Given the description of an element on the screen output the (x, y) to click on. 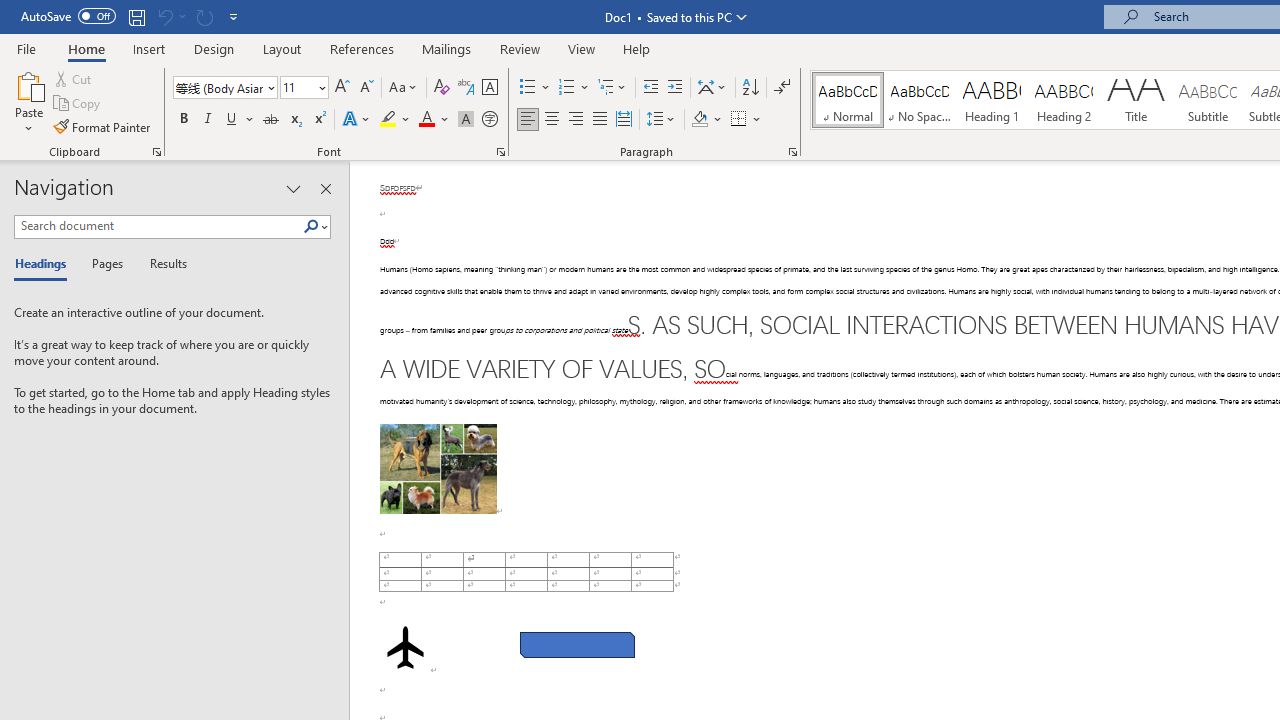
Can't Repeat (204, 15)
